Given the description of an element on the screen output the (x, y) to click on. 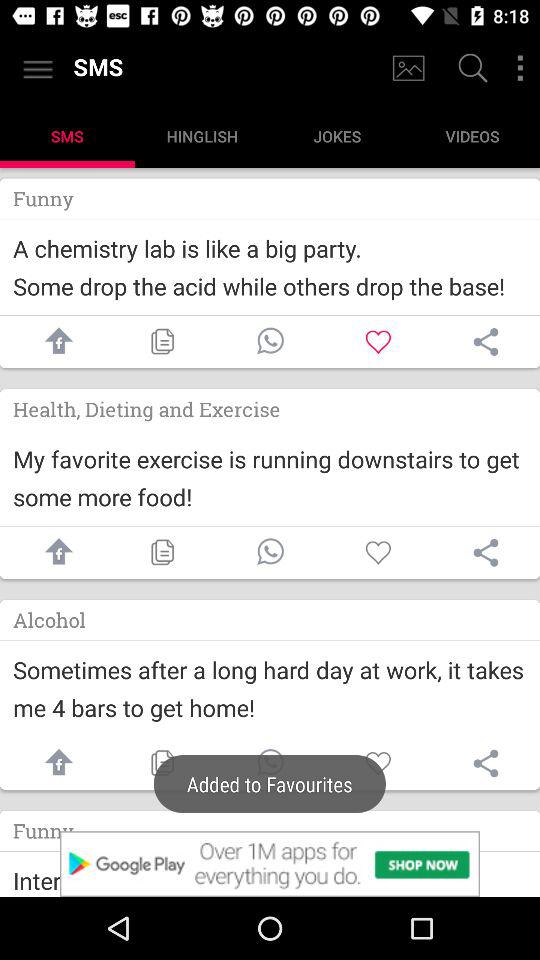
search any article (470, 70)
